Given the description of an element on the screen output the (x, y) to click on. 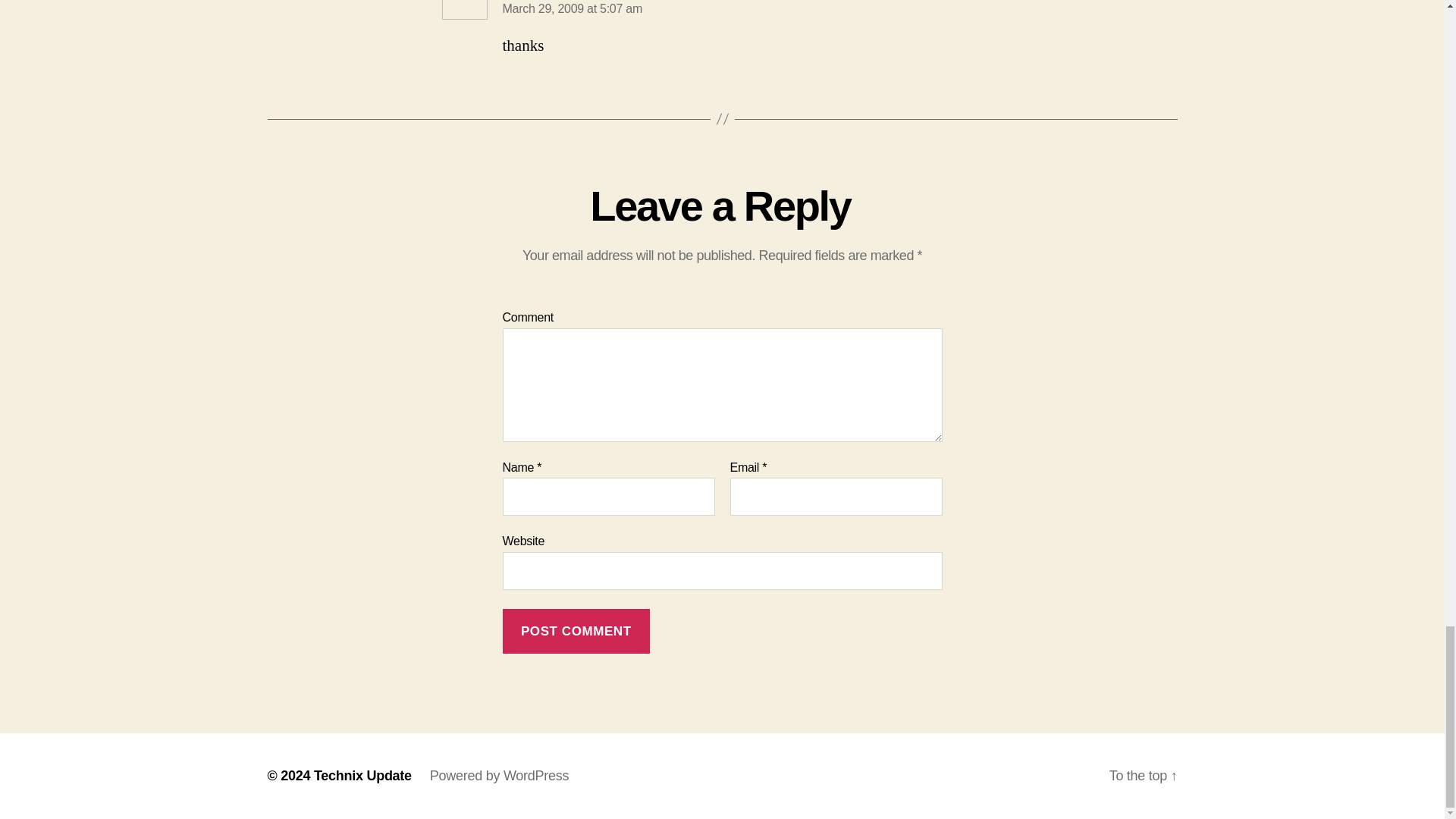
Post Comment (575, 631)
Post Comment (575, 631)
Powered by WordPress (499, 775)
March 29, 2009 at 5:07 am (572, 8)
March 29, 2009 at 5:07 am (572, 8)
Technix Update (363, 775)
